Given the description of an element on the screen output the (x, y) to click on. 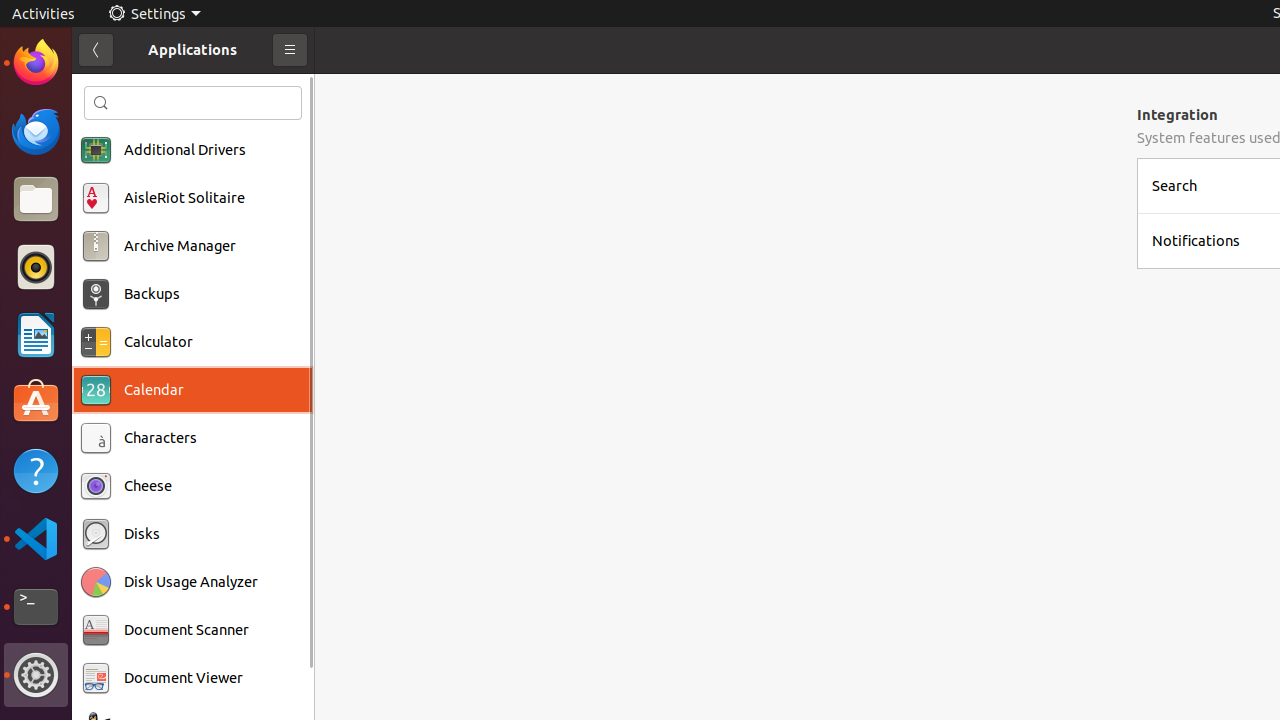
li.txt Element type: label (259, 89)
Primary Menu Element type: toggle-button (290, 50)
Firefox Web Browser Element type: push-button (36, 63)
